Given the description of an element on the screen output the (x, y) to click on. 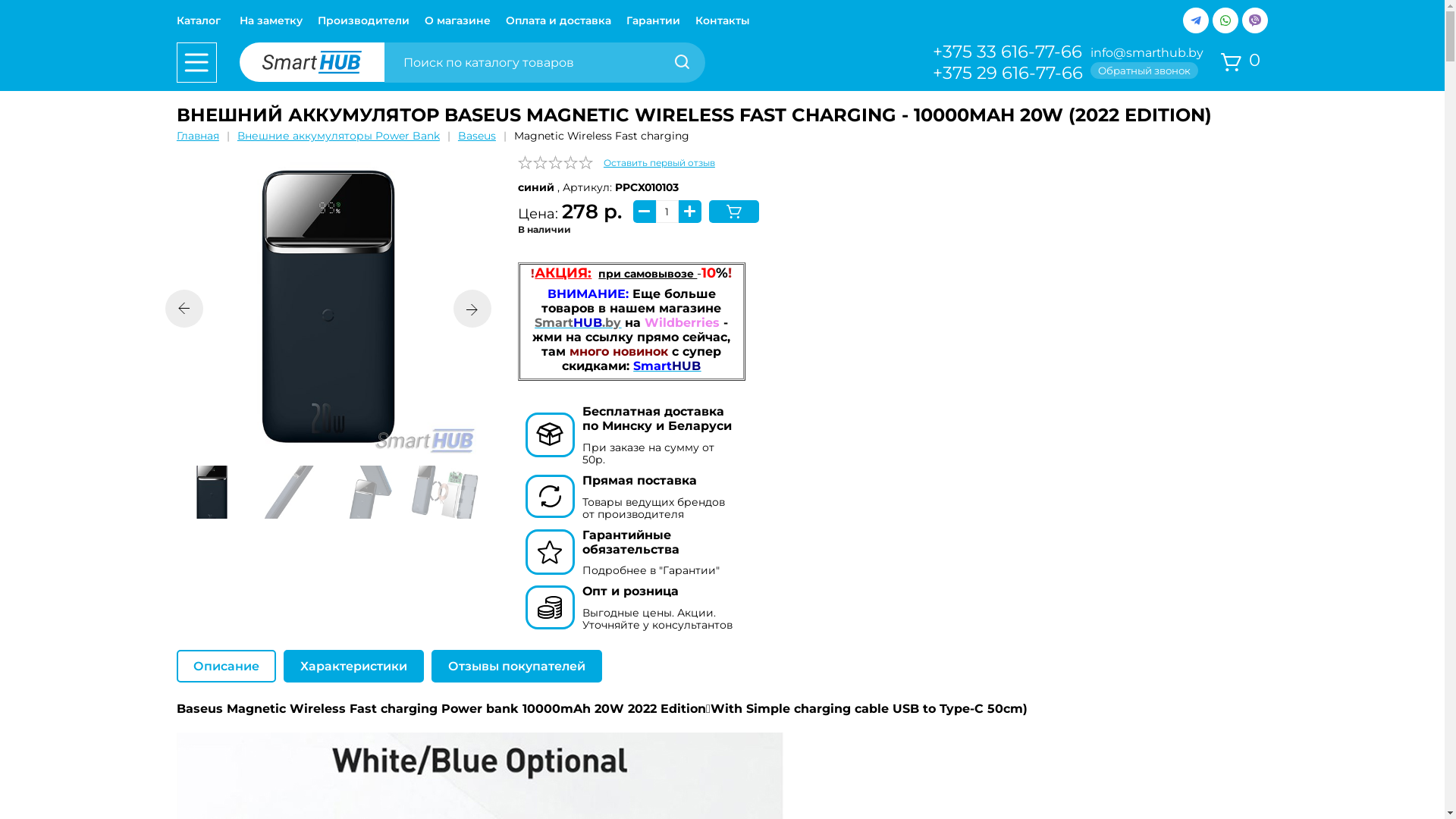
+375 29 616-77-66 Element type: text (1007, 72)
SmartHUB Element type: text (666, 365)
SmartHUB.by Element type: text (577, 322)
info@smarthub.by Element type: text (1147, 52)
+375 33 616-77-66 Element type: text (1007, 51)
Baseus Element type: text (476, 135)
